Given the description of an element on the screen output the (x, y) to click on. 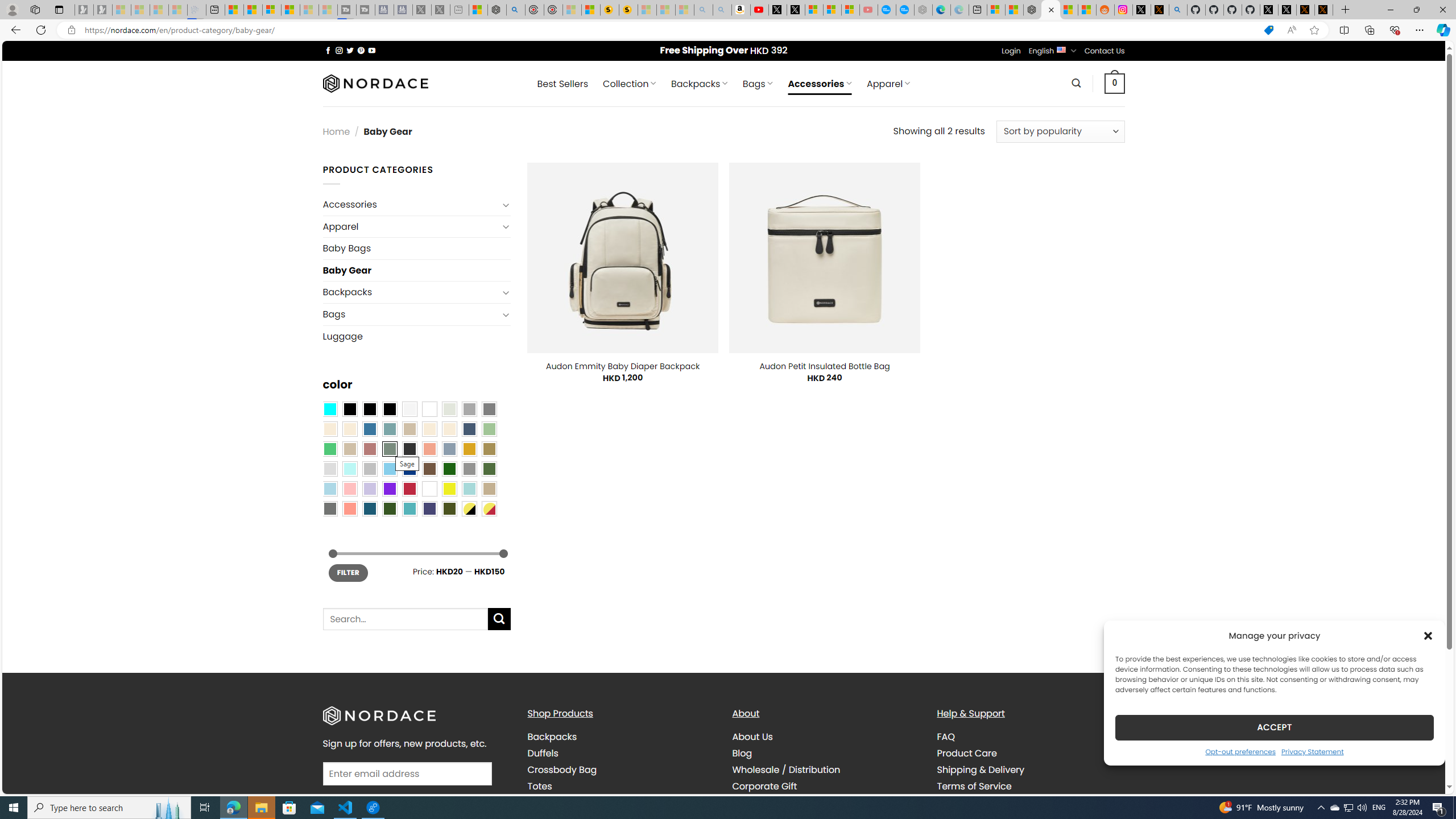
Duffels (620, 753)
Luggage (416, 336)
Coral (429, 448)
Shipping & Delivery (980, 770)
Yellow-Red (488, 508)
